Given the description of an element on the screen output the (x, y) to click on. 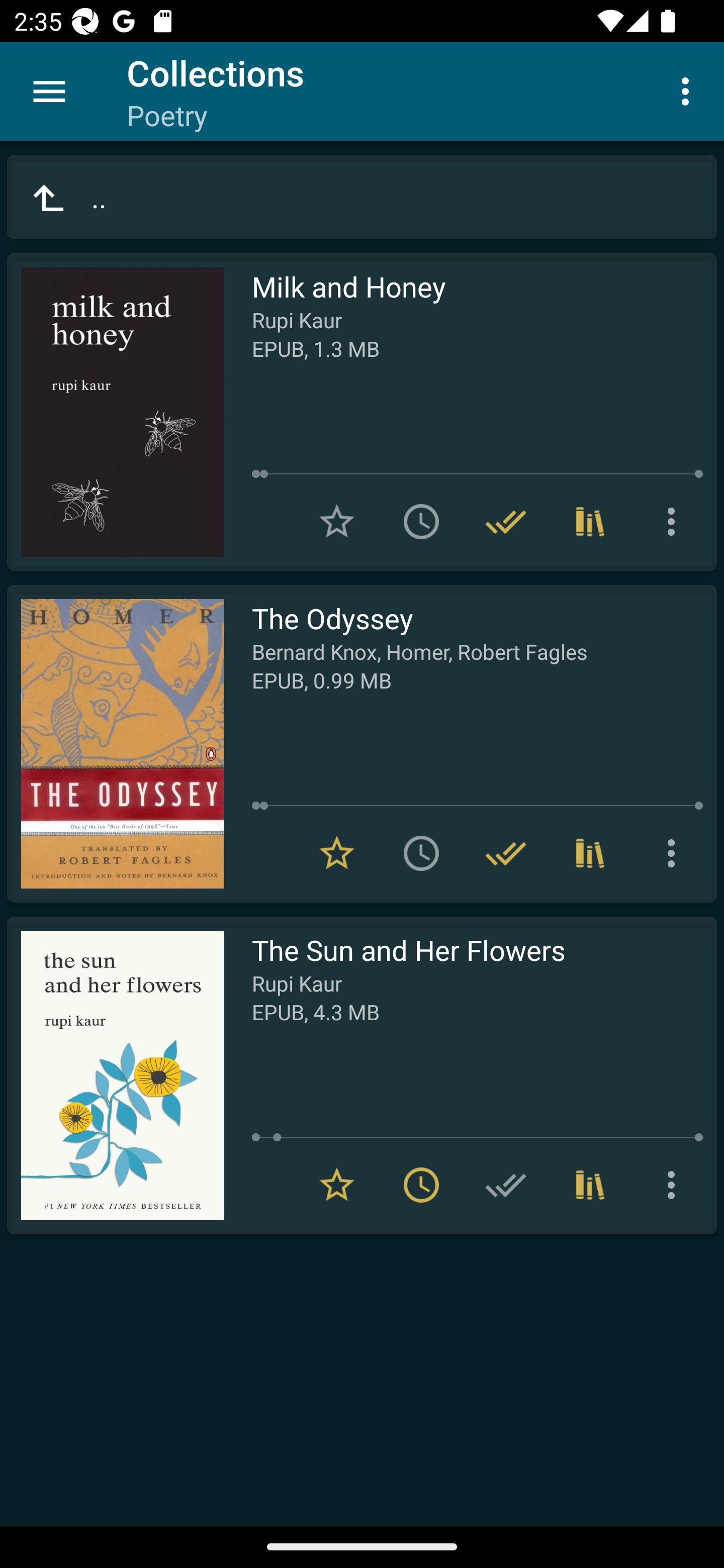
Menu (49, 91)
More options (688, 90)
.. (361, 197)
Read Milk and Honey (115, 412)
Add to Favorites (336, 521)
Add to To read (421, 521)
Remove from Have read (505, 521)
Collections (4) (590, 521)
More options (674, 521)
Read The Odyssey (115, 743)
Remove from Favorites (336, 852)
Add to To read (421, 852)
Remove from Have read (505, 852)
Collections (3) (590, 852)
More options (674, 852)
Read The Sun and Her Flowers (115, 1075)
Remove from Favorites (336, 1185)
Remove from To read (421, 1185)
Add to Have read (505, 1185)
Collections (1) (590, 1185)
More options (674, 1185)
